Given the description of an element on the screen output the (x, y) to click on. 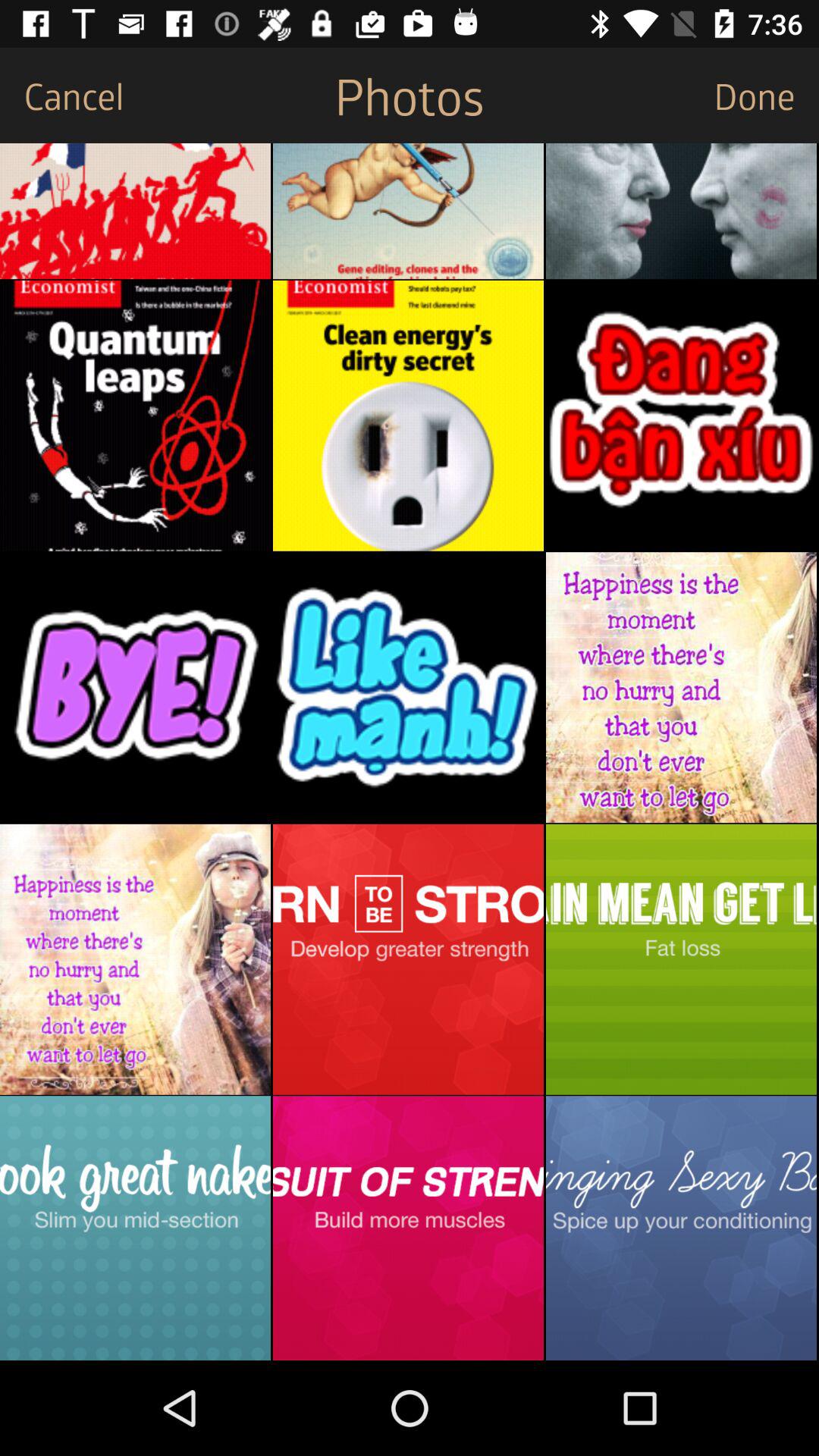
select photo (408, 415)
